Given the description of an element on the screen output the (x, y) to click on. 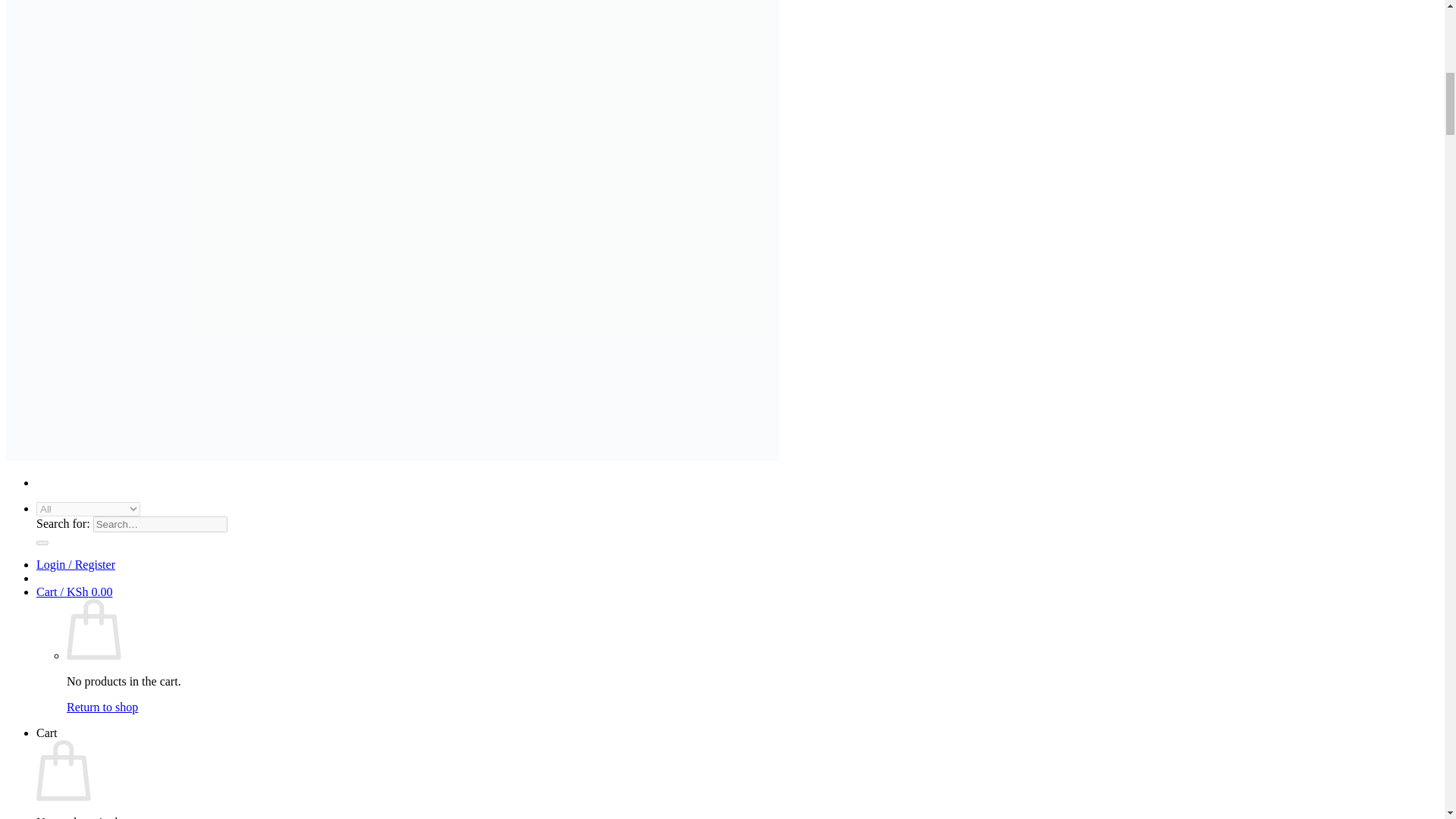
Login (75, 563)
Cart (74, 591)
Search (42, 542)
Return to shop (102, 707)
